Given the description of an element on the screen output the (x, y) to click on. 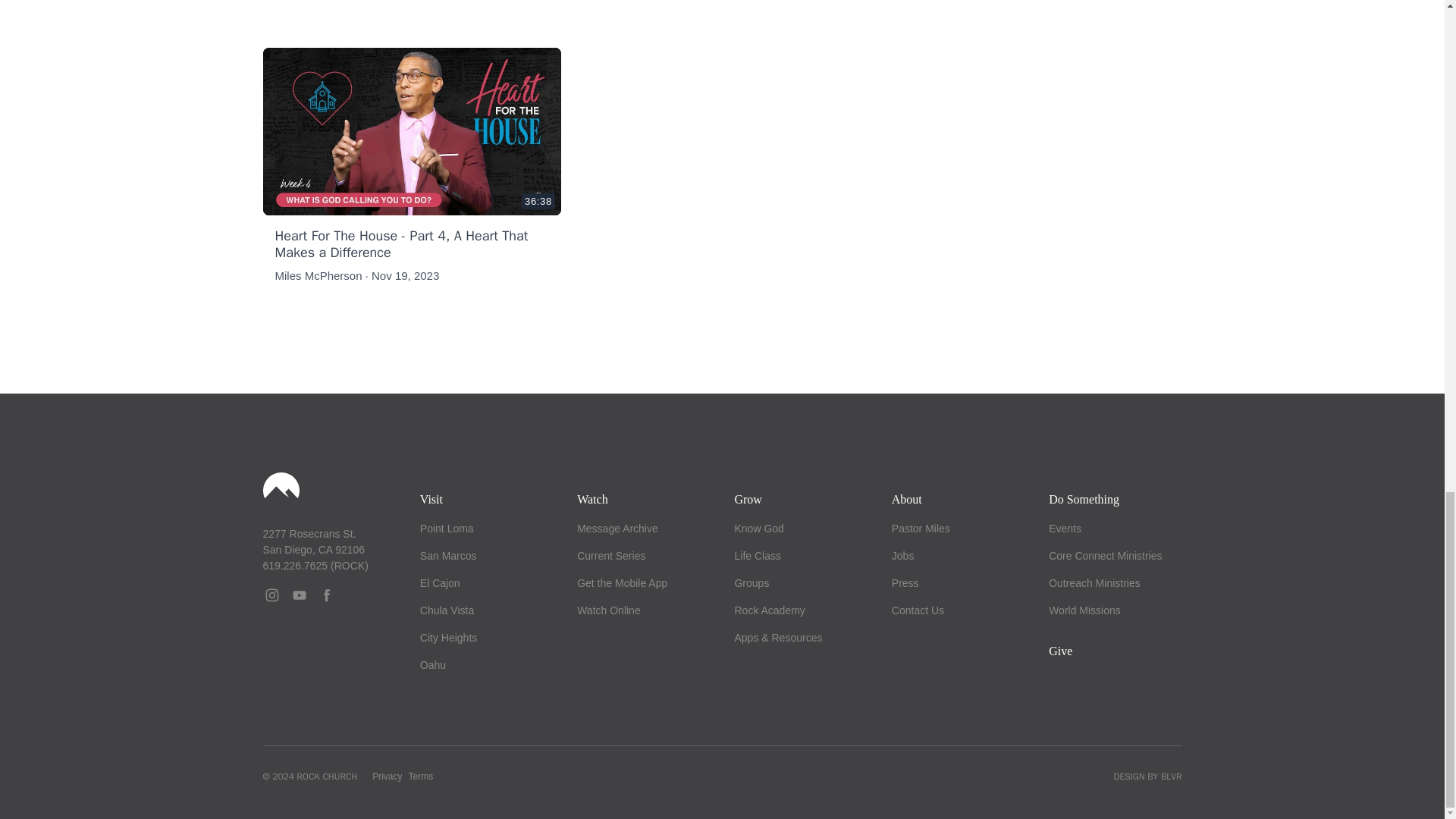
San Marcos (448, 555)
El Cajon (440, 582)
Oahu (432, 664)
Life Class (756, 555)
Message Archive (617, 528)
Rock Academy (769, 610)
Current Series (610, 555)
Visit (431, 499)
Groups (750, 582)
Grow (747, 499)
